Given the description of an element on the screen output the (x, y) to click on. 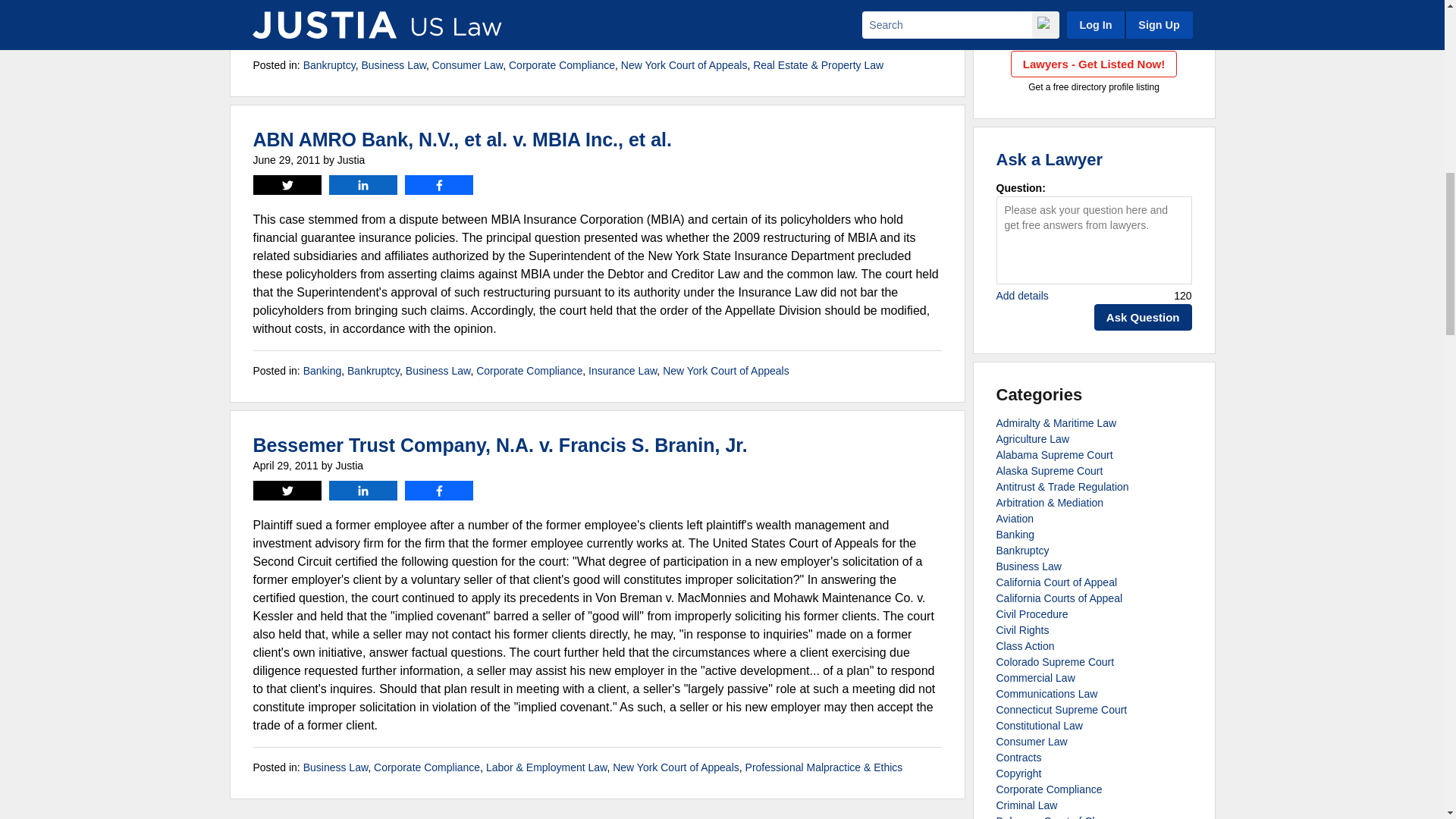
Business Law (393, 64)
View all posts in New York Court of Appeals (725, 370)
View all posts in New York Court of Appeals (684, 64)
View all posts in Consumer Law (467, 64)
View all posts in Insurance Law (622, 370)
View all posts in Corporate Compliance (529, 370)
Bankruptcy (328, 64)
Search (1158, 12)
View all posts in Business Law (438, 370)
View all posts in Business Law (393, 64)
View all posts in Corporate Compliance (561, 64)
View all posts in Banking (322, 370)
View "People v First Am. Corp." on Justia Law (616, 22)
View all posts in Bankruptcy (328, 64)
